Given the description of an element on the screen output the (x, y) to click on. 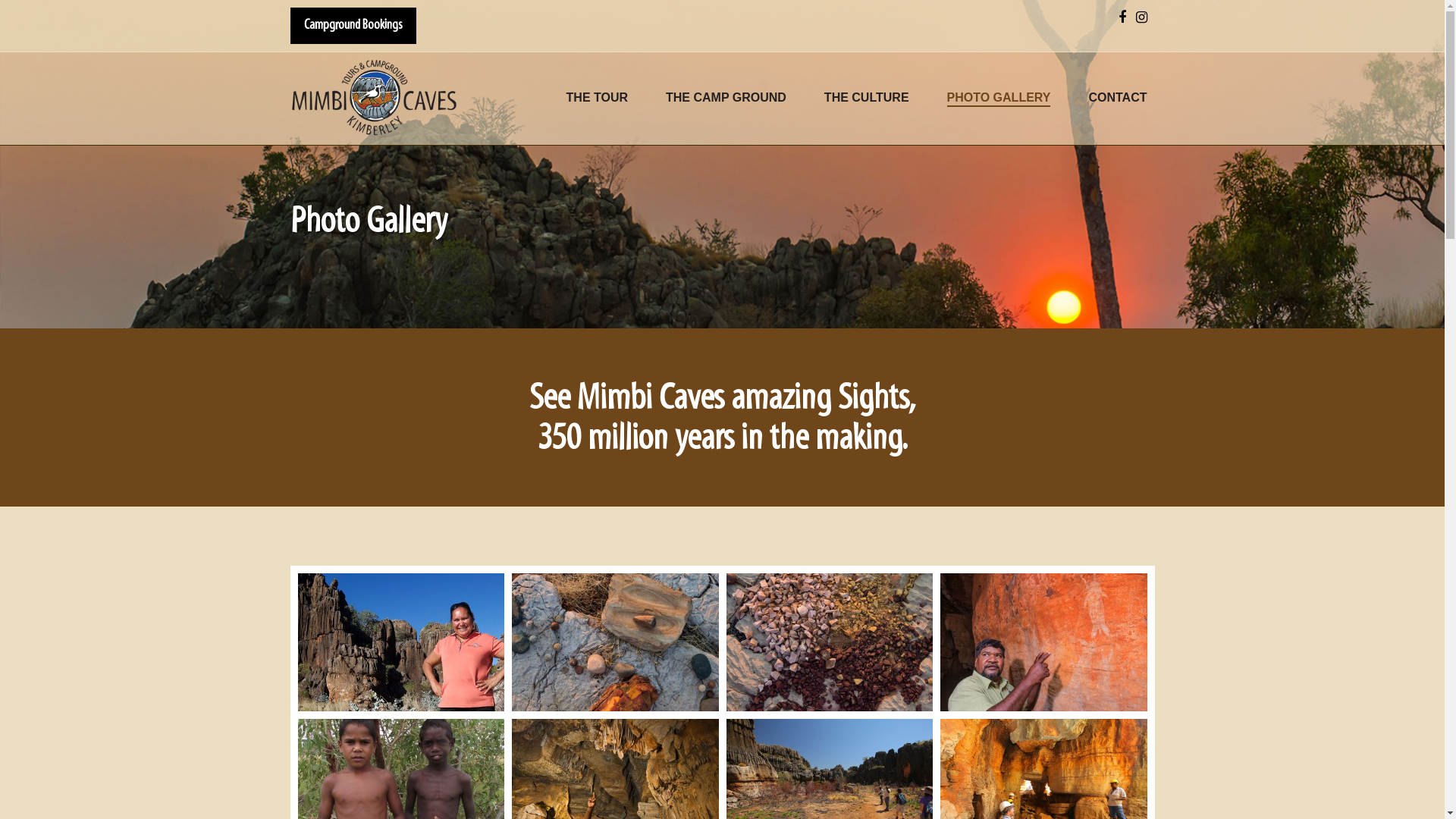
THE CULTURE Element type: text (866, 98)
Campground Bookings Element type: text (352, 25)
Instagram Element type: hover (1141, 17)
PHOTO GALLERY Element type: text (999, 98)
THE TOUR Element type: text (596, 98)
CONTACT Element type: text (1117, 98)
Facebook Element type: hover (1121, 17)
THE CAMP GROUND Element type: text (725, 98)
